Given the description of an element on the screen output the (x, y) to click on. 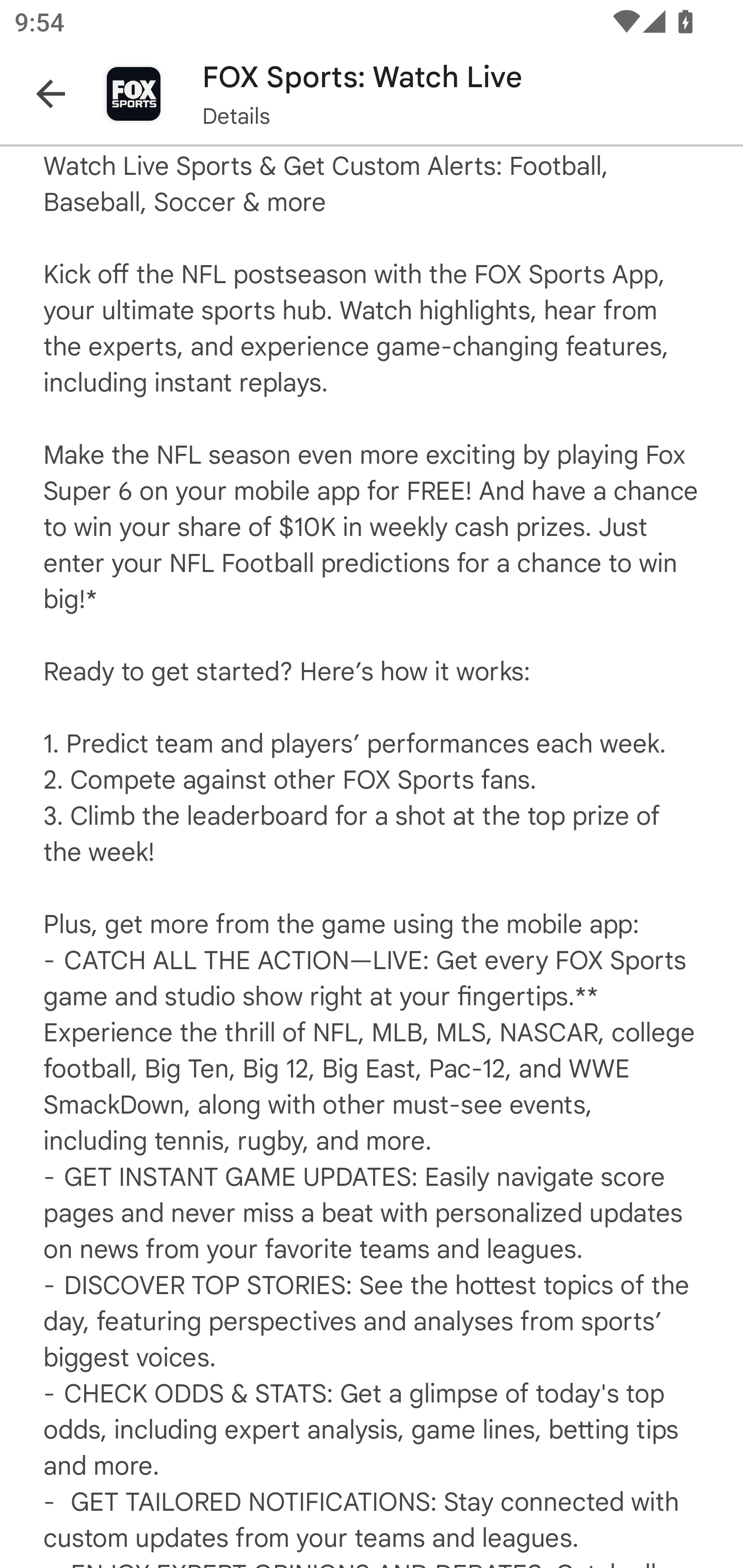
Navigate up (50, 93)
